Given the description of an element on the screen output the (x, y) to click on. 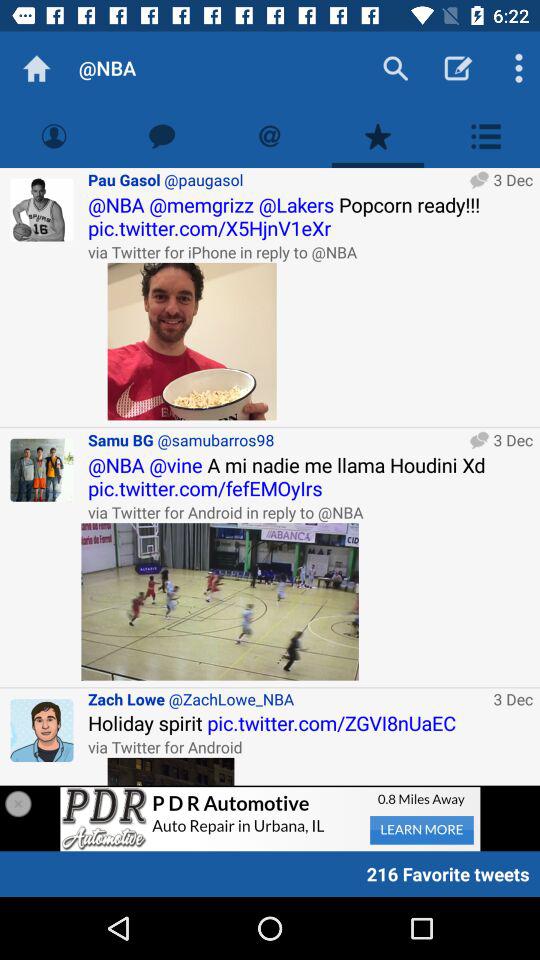
scroll until nba vine a (310, 476)
